Given the description of an element on the screen output the (x, y) to click on. 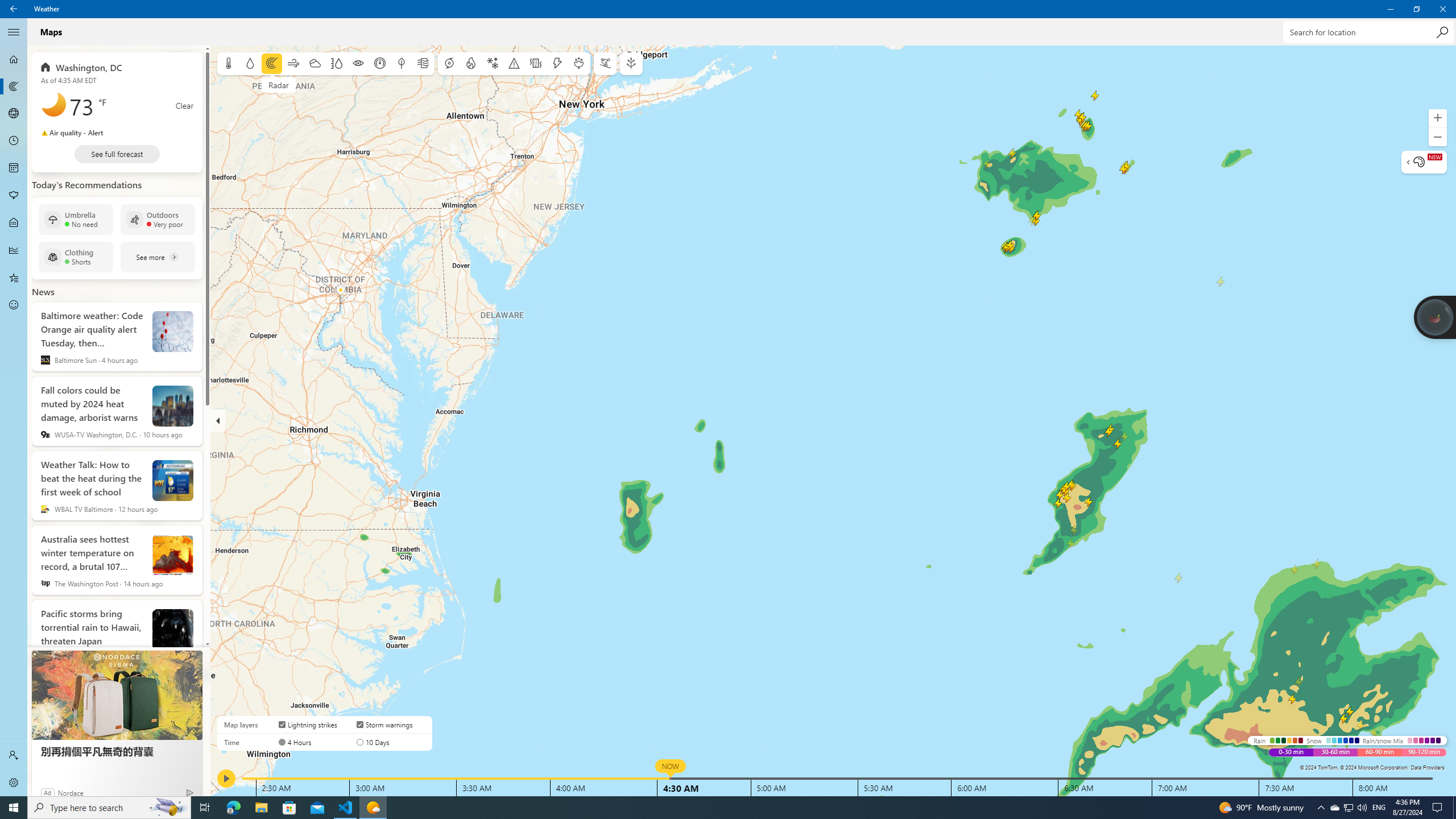
Visual Studio Code - 1 running window (345, 807)
Maps - Not Selected (13, 85)
Show desktop (1454, 807)
Action Center, No new notifications (1439, 807)
Send Feedback - Not Selected (13, 304)
